Given the description of an element on the screen output the (x, y) to click on. 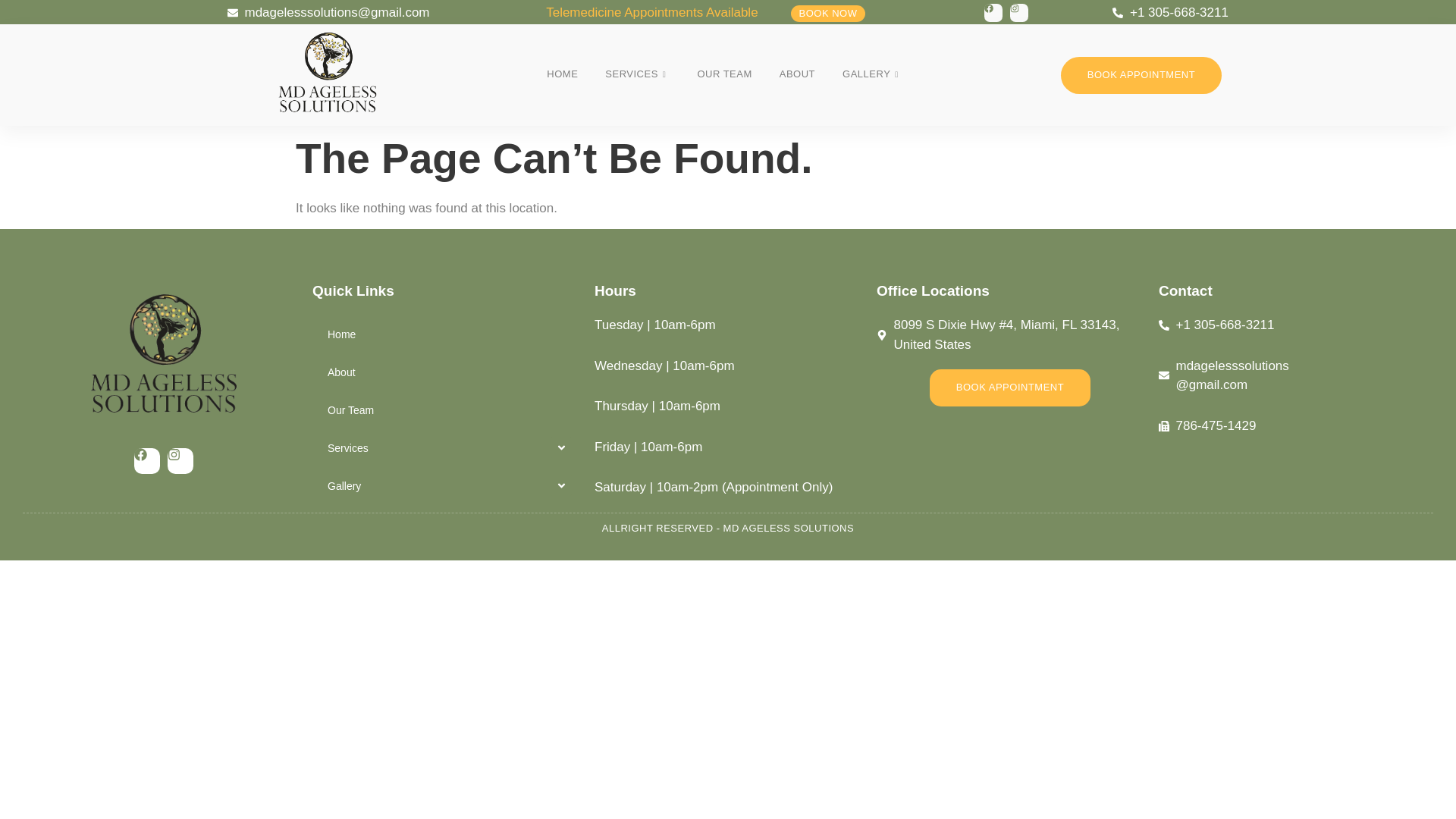
SERVICES (637, 75)
BOOK NOW (828, 13)
Telemedicine Appointments Available (651, 12)
